Given the description of an element on the screen output the (x, y) to click on. 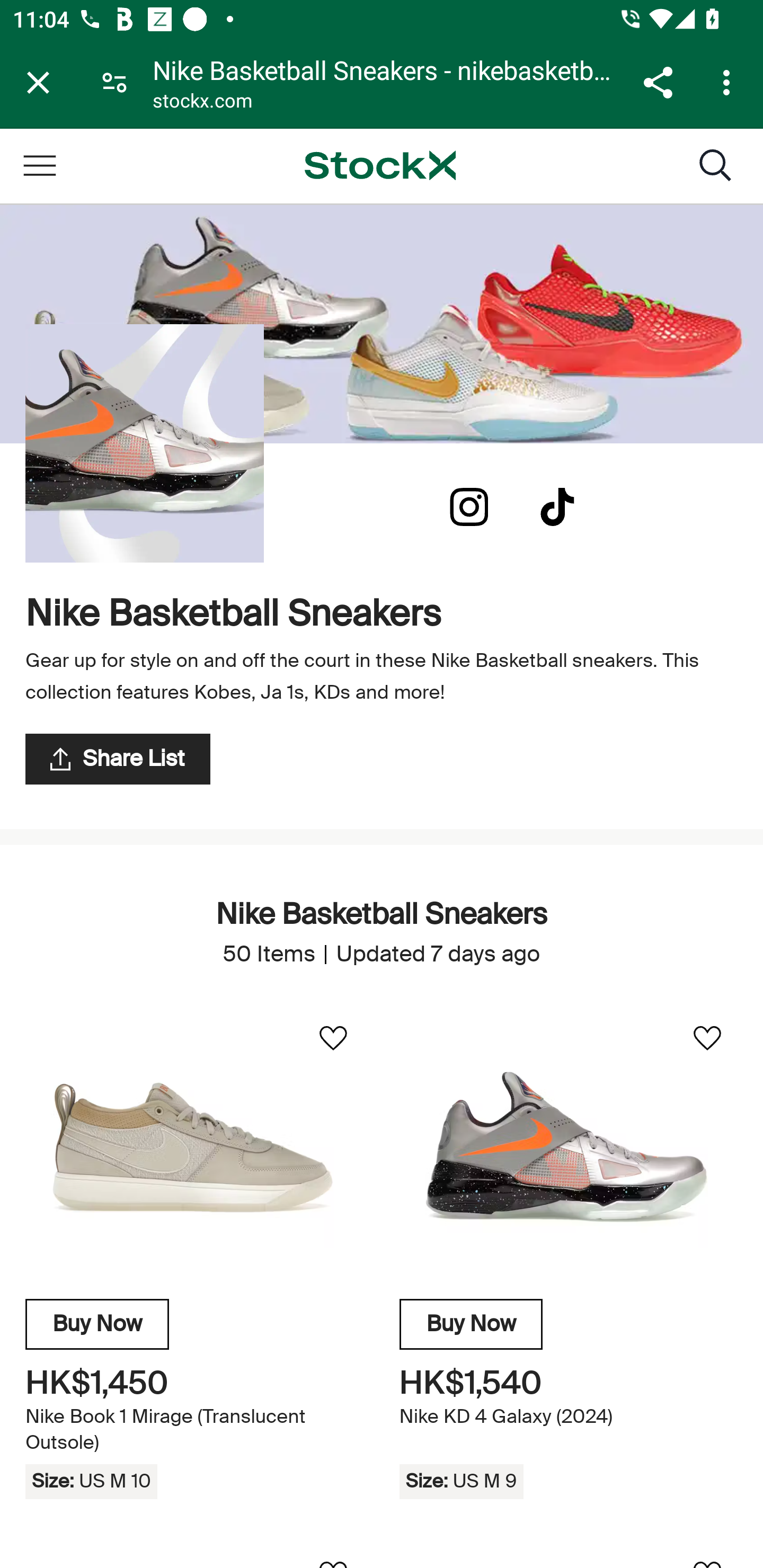
Close tab (38, 82)
Share (657, 82)
Customize and control Google Chrome (729, 82)
Connection is secure (114, 81)
stockx.com (202, 103)
Toggle Navigation (39, 165)
StockX Logo (379, 165)
?hl=en (469, 507)
@stockx (557, 507)
Share List (118, 758)
nike-book-1-light-orewood-brown?size=10 (194, 1147)
nike-kd-4-galaxy-2024?size=9 (568, 1147)
Buy Now (97, 1324)
Buy Now (471, 1324)
